Given the description of an element on the screen output the (x, y) to click on. 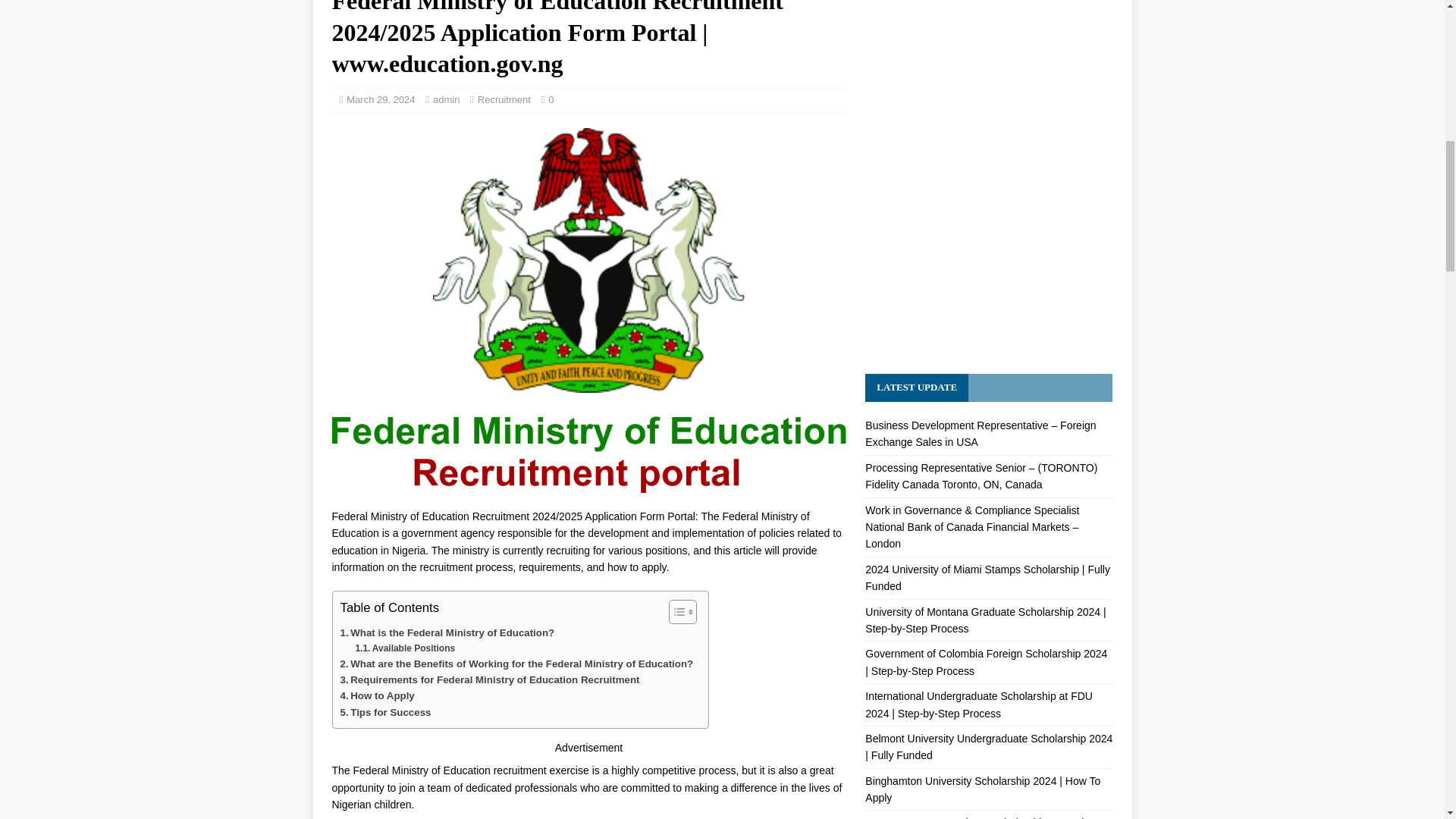
What is the Federal Ministry of Education? (446, 632)
How to Apply (376, 695)
Available Positions (404, 648)
How to Apply (376, 695)
Tips for Success (384, 712)
admin (446, 99)
Tips for Success (384, 712)
March 29, 2024 (380, 99)
What is the Federal Ministry of Education? (446, 632)
Recruitment (504, 99)
